Given the description of an element on the screen output the (x, y) to click on. 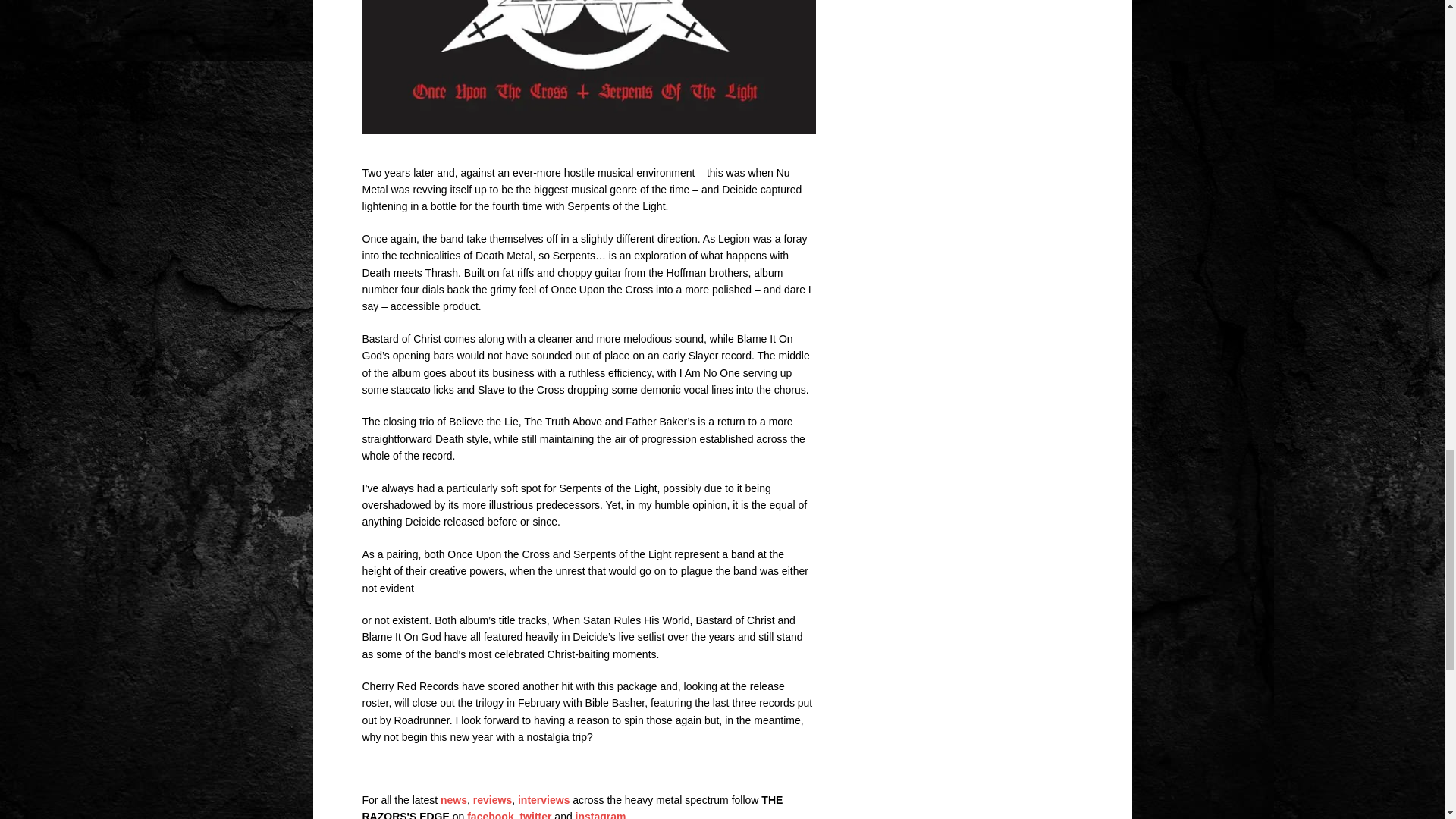
interviews (543, 799)
news (454, 799)
facebook (490, 814)
instagram (600, 814)
twitter (535, 814)
reviews (492, 799)
